Given the description of an element on the screen output the (x, y) to click on. 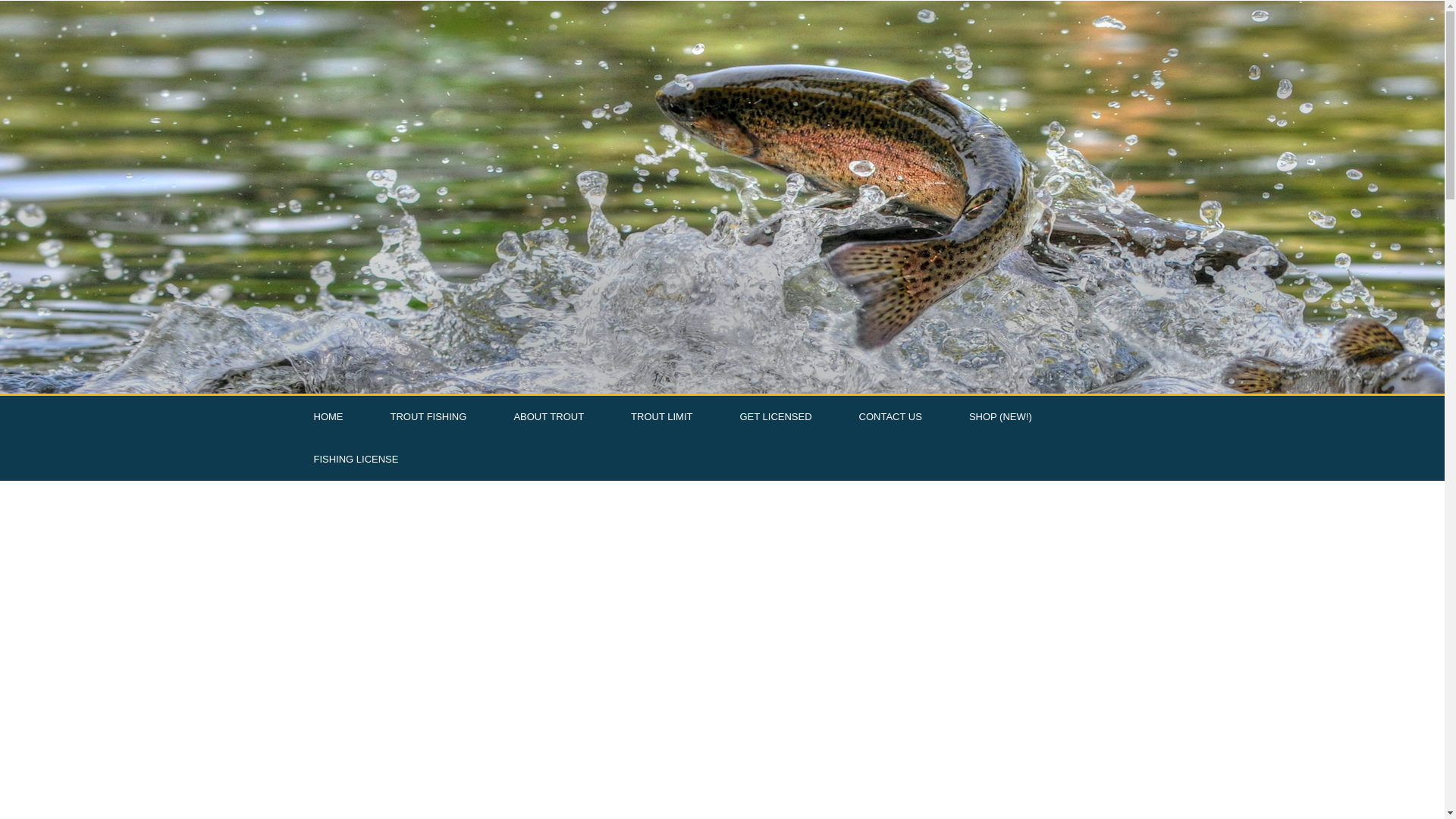
ABOUT TROUT (548, 416)
HOME (327, 416)
TROUT LIMIT (661, 416)
TROUT FISHING (428, 416)
